Given the description of an element on the screen output the (x, y) to click on. 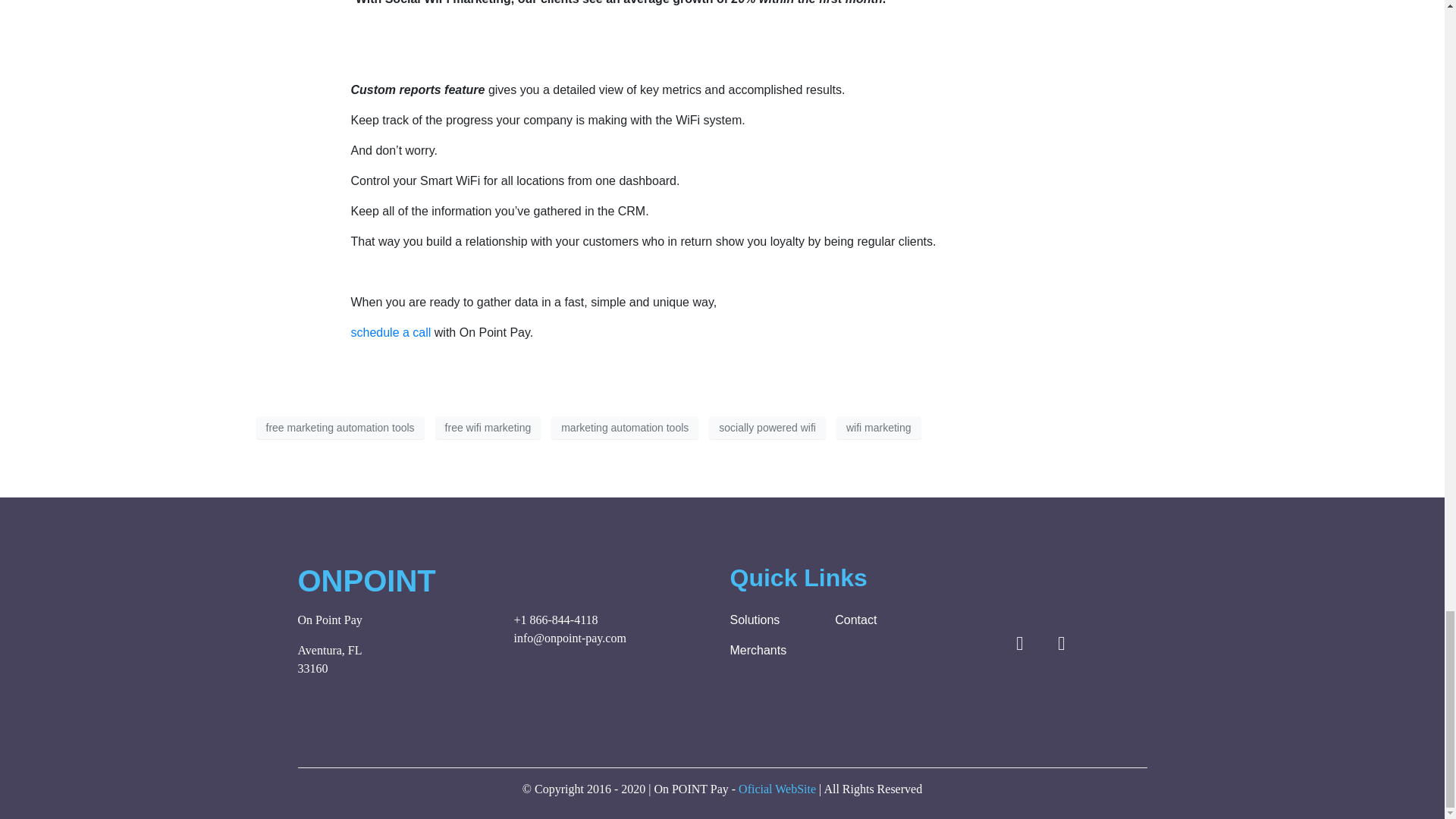
Merchants (774, 650)
wifi marketing (878, 427)
free marketing automation tools (340, 427)
Solutions (774, 619)
Contact (879, 619)
free wifi marketing (488, 427)
marketing automation tools (624, 427)
schedule a call (390, 332)
socially powered wifi (767, 427)
